Given the description of an element on the screen output the (x, y) to click on. 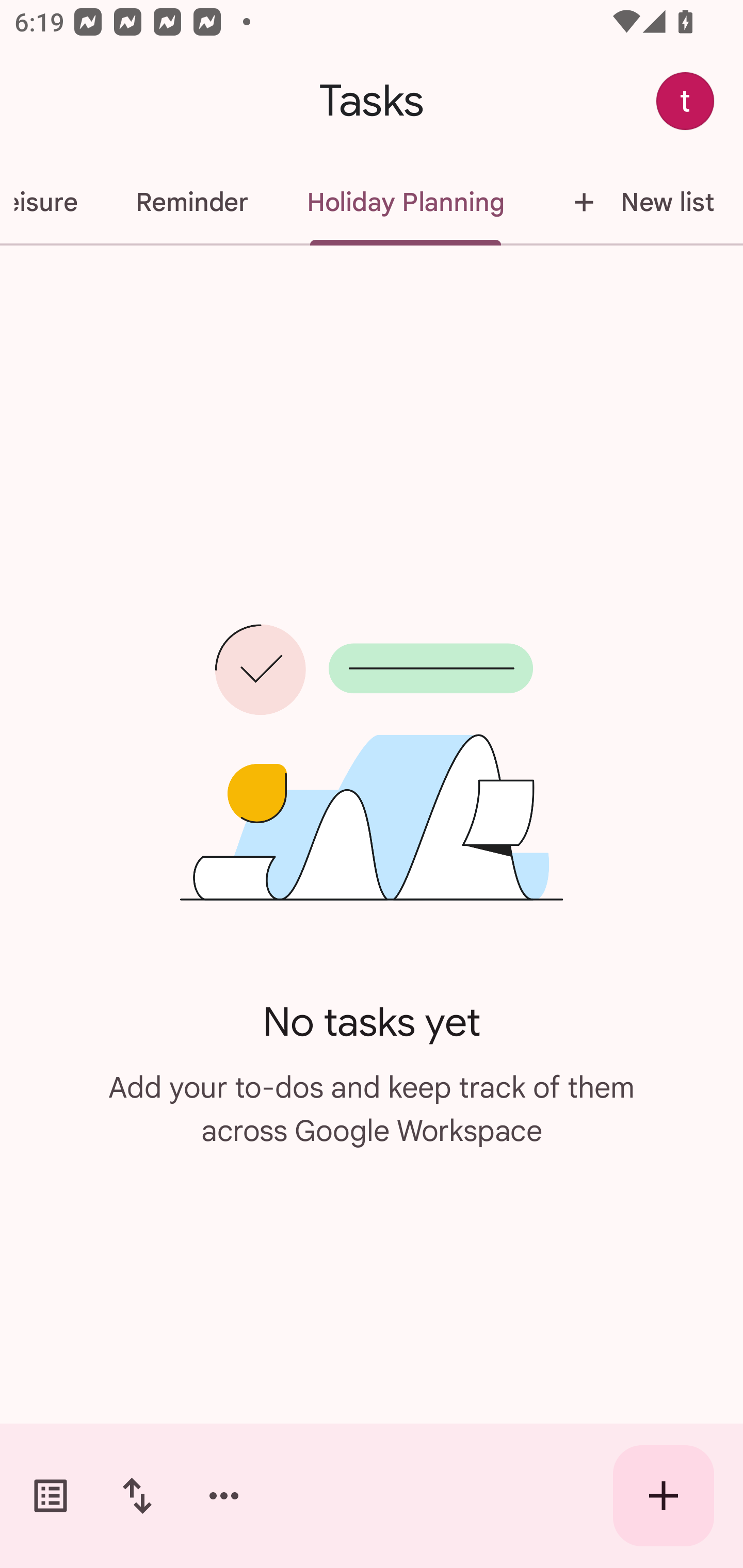
Leisure (53, 202)
Reminder (191, 202)
New list (638, 202)
Switch task lists (50, 1495)
Create new task (663, 1495)
Change sort order (136, 1495)
More options (223, 1495)
